Given the description of an element on the screen output the (x, y) to click on. 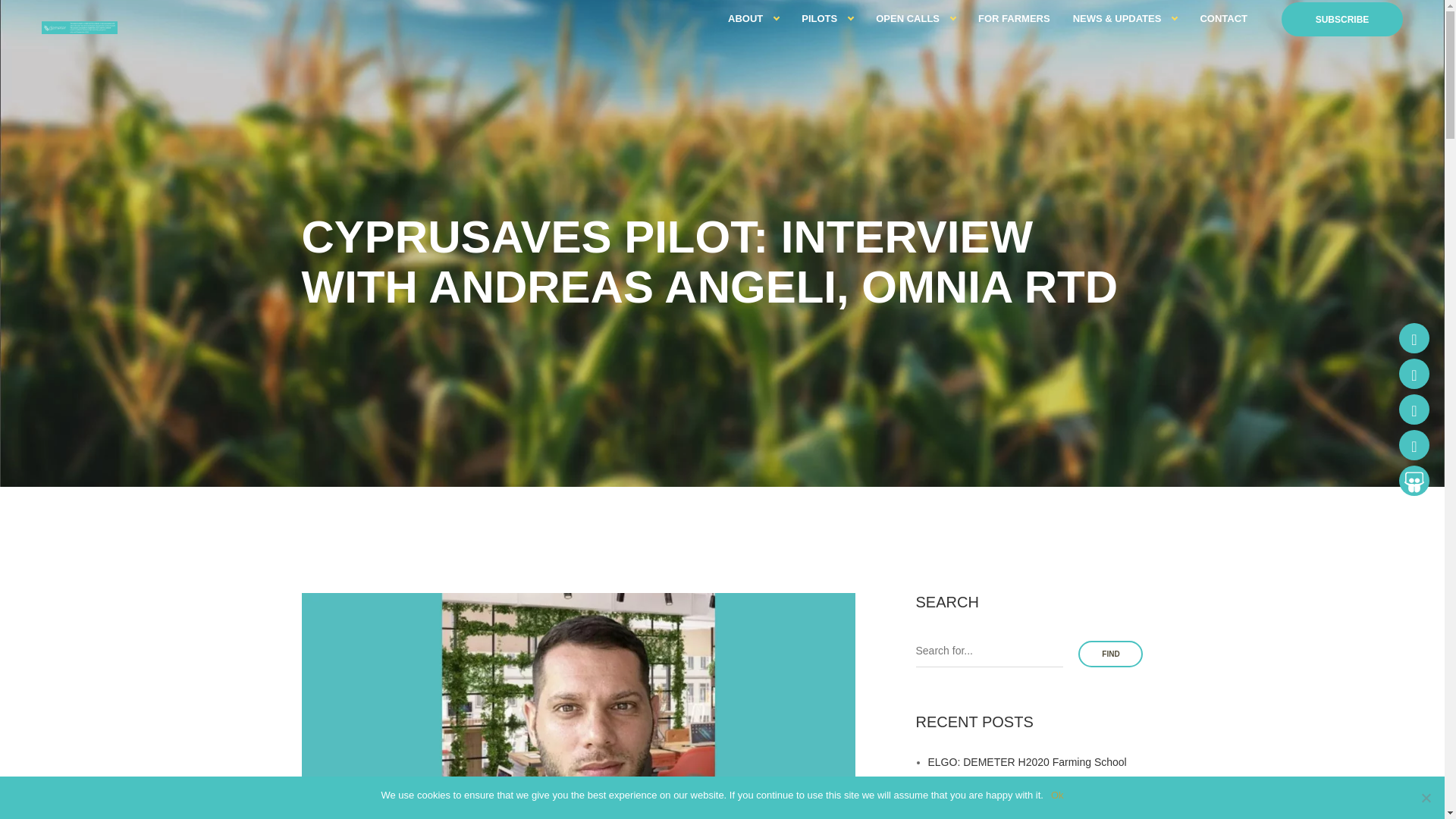
SlideShare (1414, 481)
ABOUT (745, 19)
LinkedIn (1414, 409)
OPEN CALLS (907, 19)
CONTACT (1223, 19)
ELGO: DEMETER H2020 Farming School (1027, 761)
FOR FARMERS (1013, 19)
SUBSCRIBE (1342, 19)
Twitter (1414, 373)
Facebook (1414, 337)
Youtube (1414, 444)
No (1425, 797)
PILOTS (819, 19)
FIND (1110, 653)
